Given the description of an element on the screen output the (x, y) to click on. 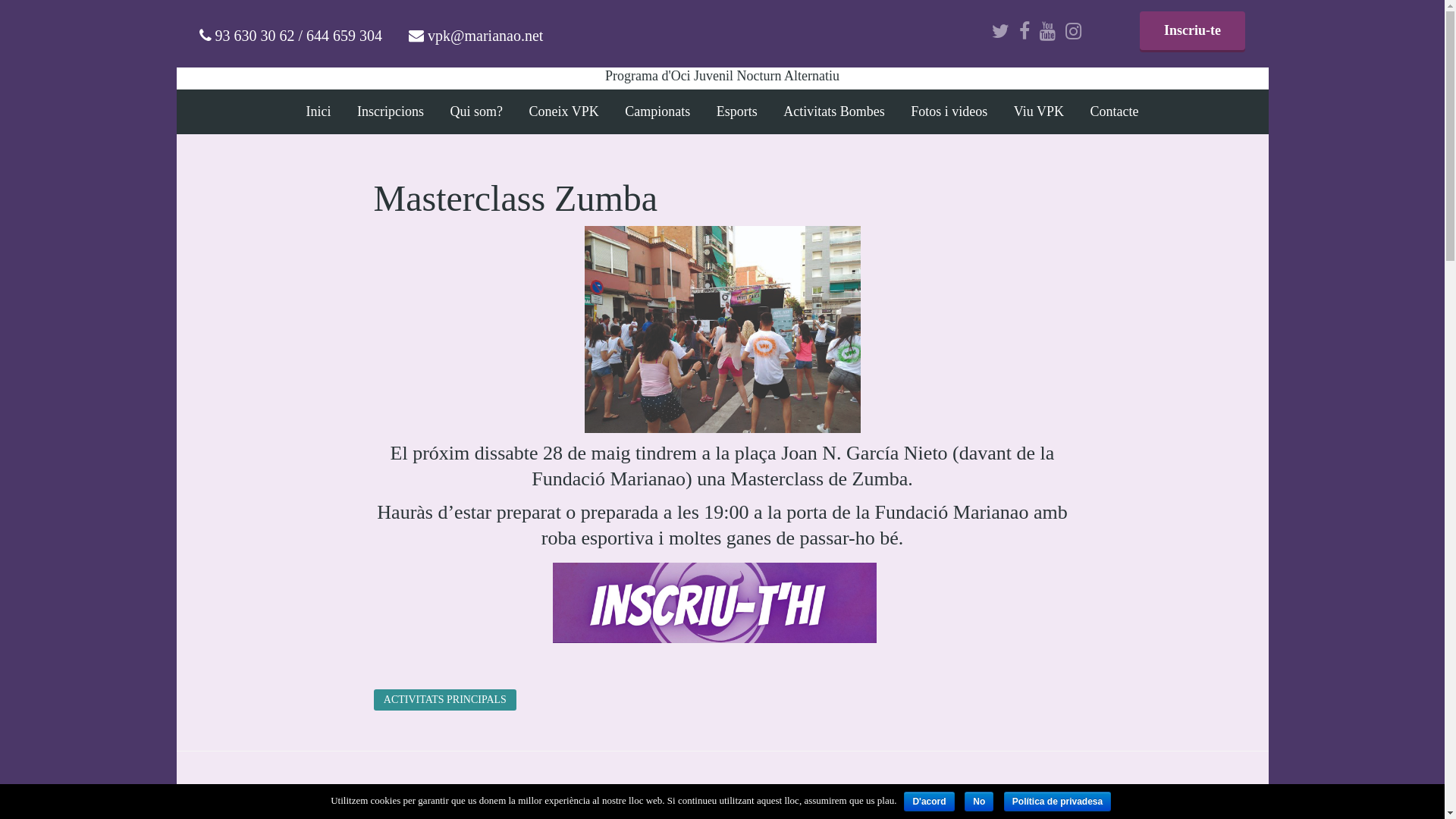
No Element type: text (978, 801)
Qui som? Element type: text (476, 111)
vpk@marianao.net Element type: text (484, 35)
D'acord Element type: text (928, 801)
Inscriu-te Element type: text (1192, 31)
Campionats Element type: text (657, 111)
Inscripcions Element type: text (390, 111)
Viu VPK Element type: text (1038, 111)
Contacte Element type: text (1113, 111)
Inici Element type: text (318, 111)
Activitats Bombes Element type: text (833, 111)
Coneix VPK Element type: text (563, 111)
ACTIVITATS PRINCIPALS Element type: text (444, 699)
Esports Element type: text (736, 111)
Fotos i videos Element type: text (948, 111)
